Given the description of an element on the screen output the (x, y) to click on. 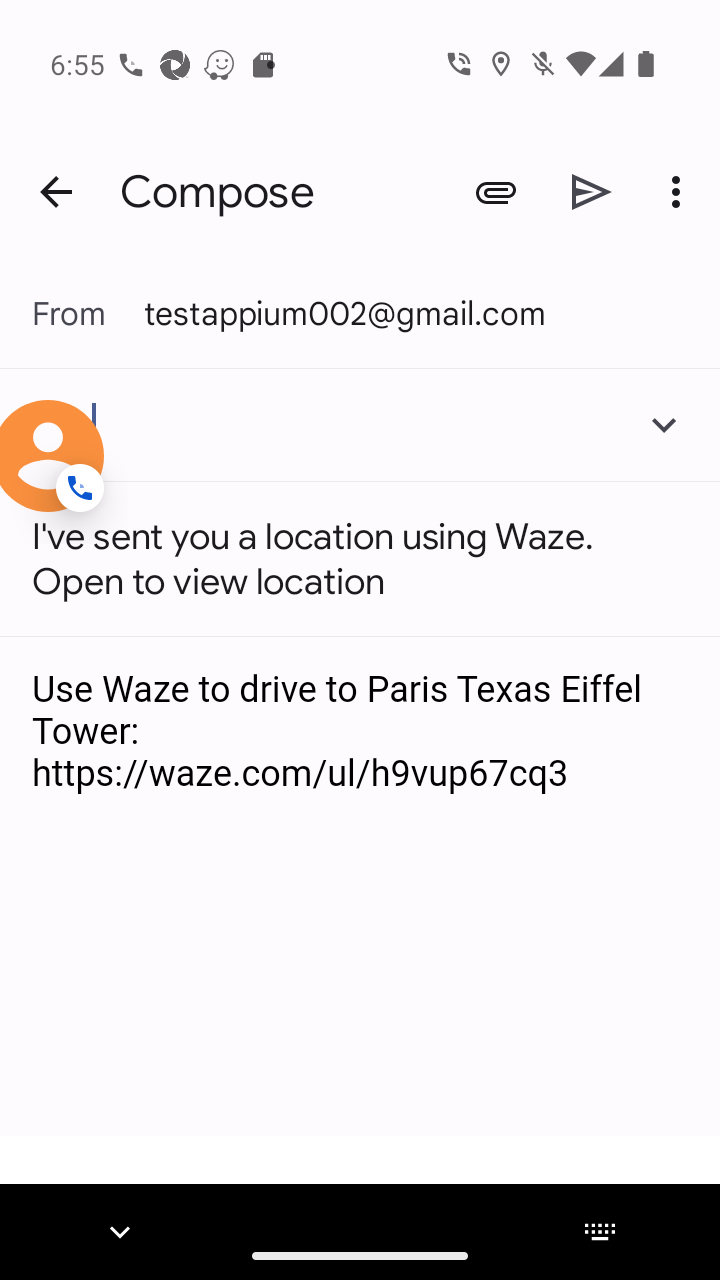
Navigate up (56, 191)
Attach file (495, 191)
Send (592, 191)
More options (680, 191)
From (87, 312)
Add Cc/Bcc (663, 424)
